Given the description of an element on the screen output the (x, y) to click on. 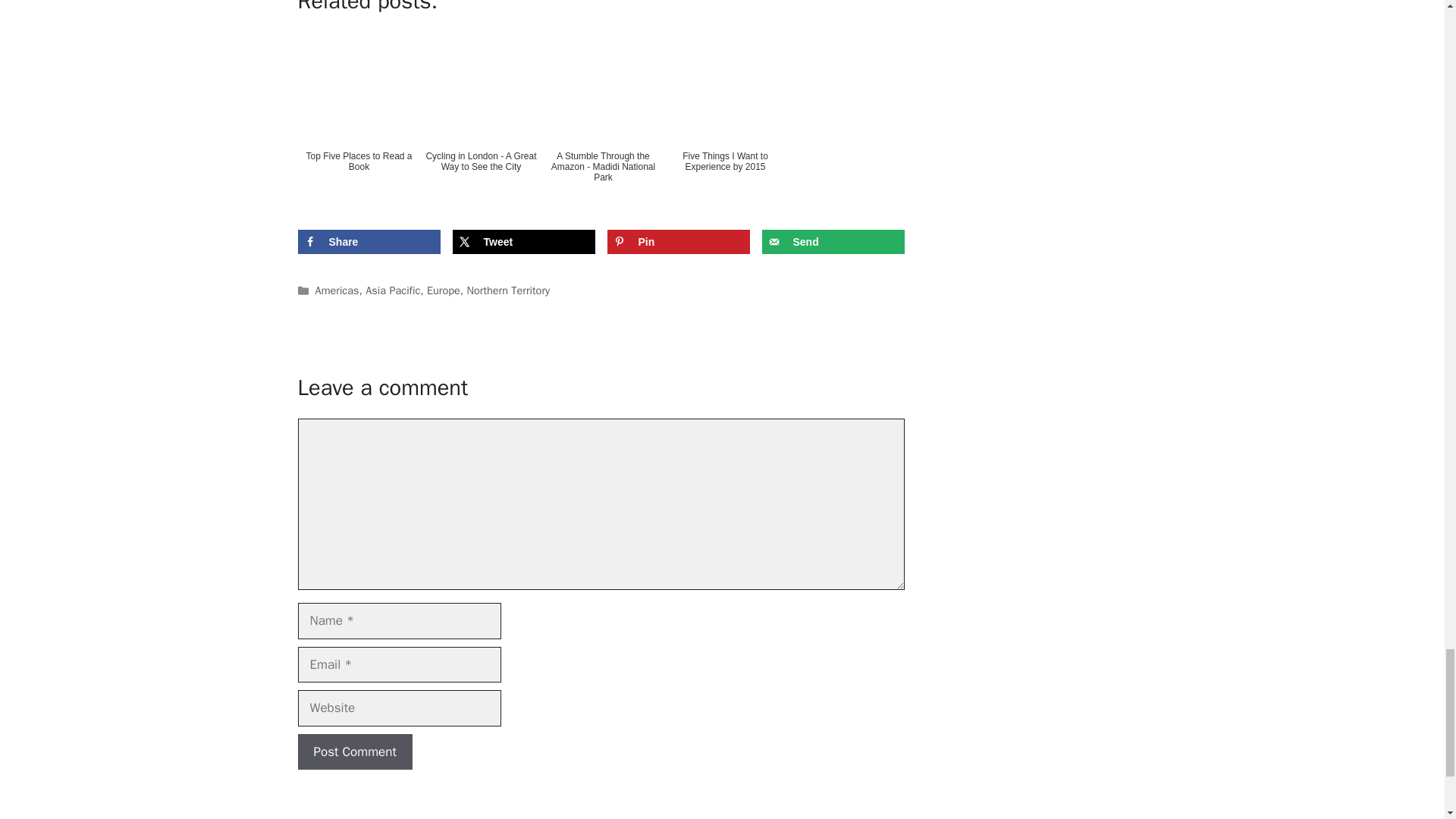
Share on Facebook (368, 241)
Share on X (522, 241)
Northern Territory (508, 290)
Pin (678, 241)
Share (368, 241)
Tweet (522, 241)
Post Comment (354, 751)
Asia Pacific (392, 290)
Europe (443, 290)
Send (832, 241)
